Given the description of an element on the screen output the (x, y) to click on. 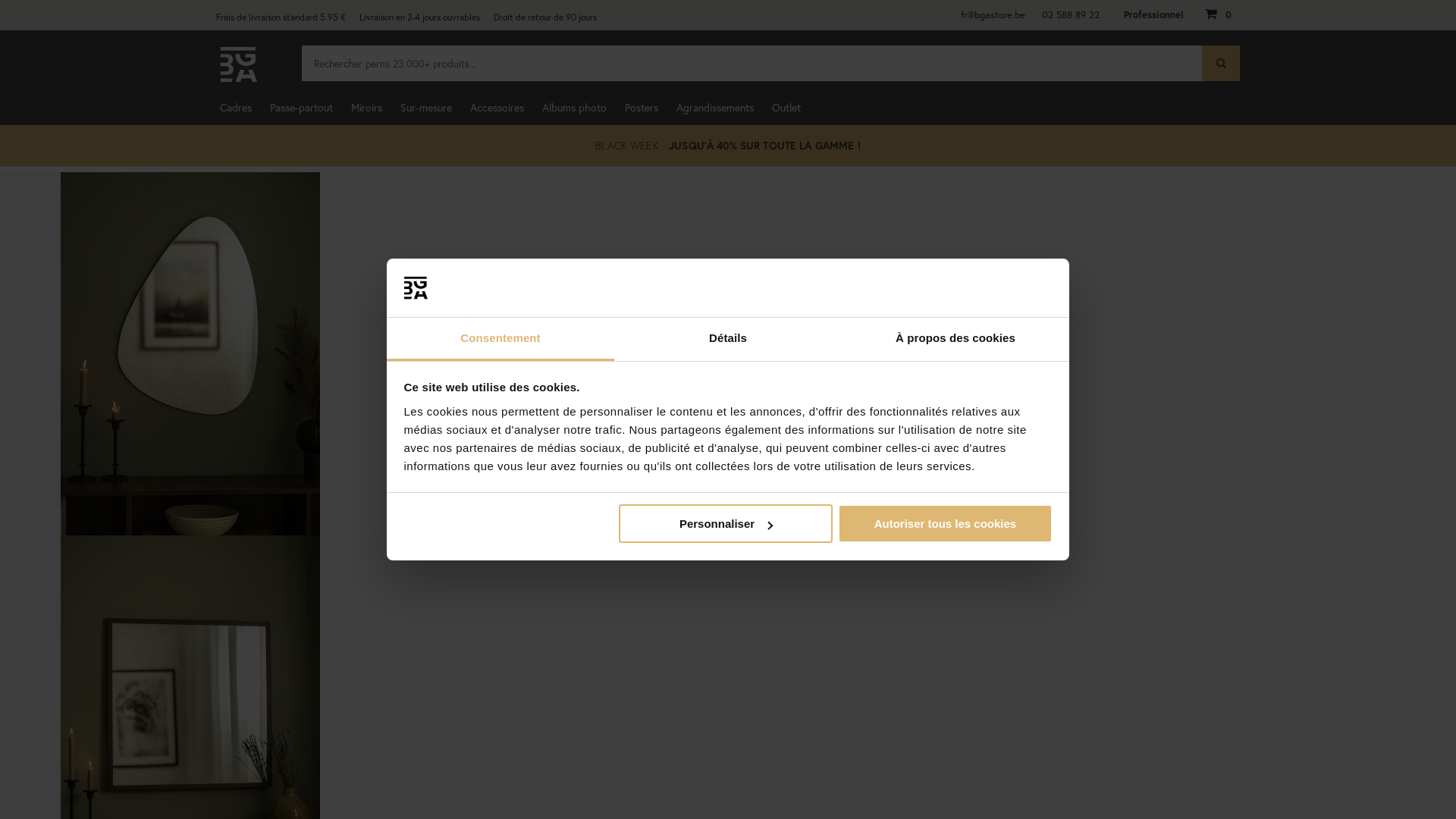
fr@bgastore.be Element type: text (992, 14)
Submit Element type: text (15, 7)
Consentement Element type: text (500, 338)
Miroirs Element type: text (366, 107)
Accessoires Element type: text (496, 107)
Sur-mesure Element type: text (425, 107)
Posters Element type: text (641, 107)
Passe-partout Element type: text (301, 107)
Agrandissements Element type: text (714, 107)
Autoriser tous les cookies Element type: text (944, 523)
Outlet Element type: text (786, 107)
02 588 89 22 Element type: text (1070, 14)
Professionnel Element type: text (1153, 14)
Personnaliser Element type: text (725, 523)
Cadres Element type: text (235, 107)
Albums photo Element type: text (574, 107)
Rechercher parmi 23 000+ produits... Element type: hover (770, 63)
